Given the description of an element on the screen output the (x, y) to click on. 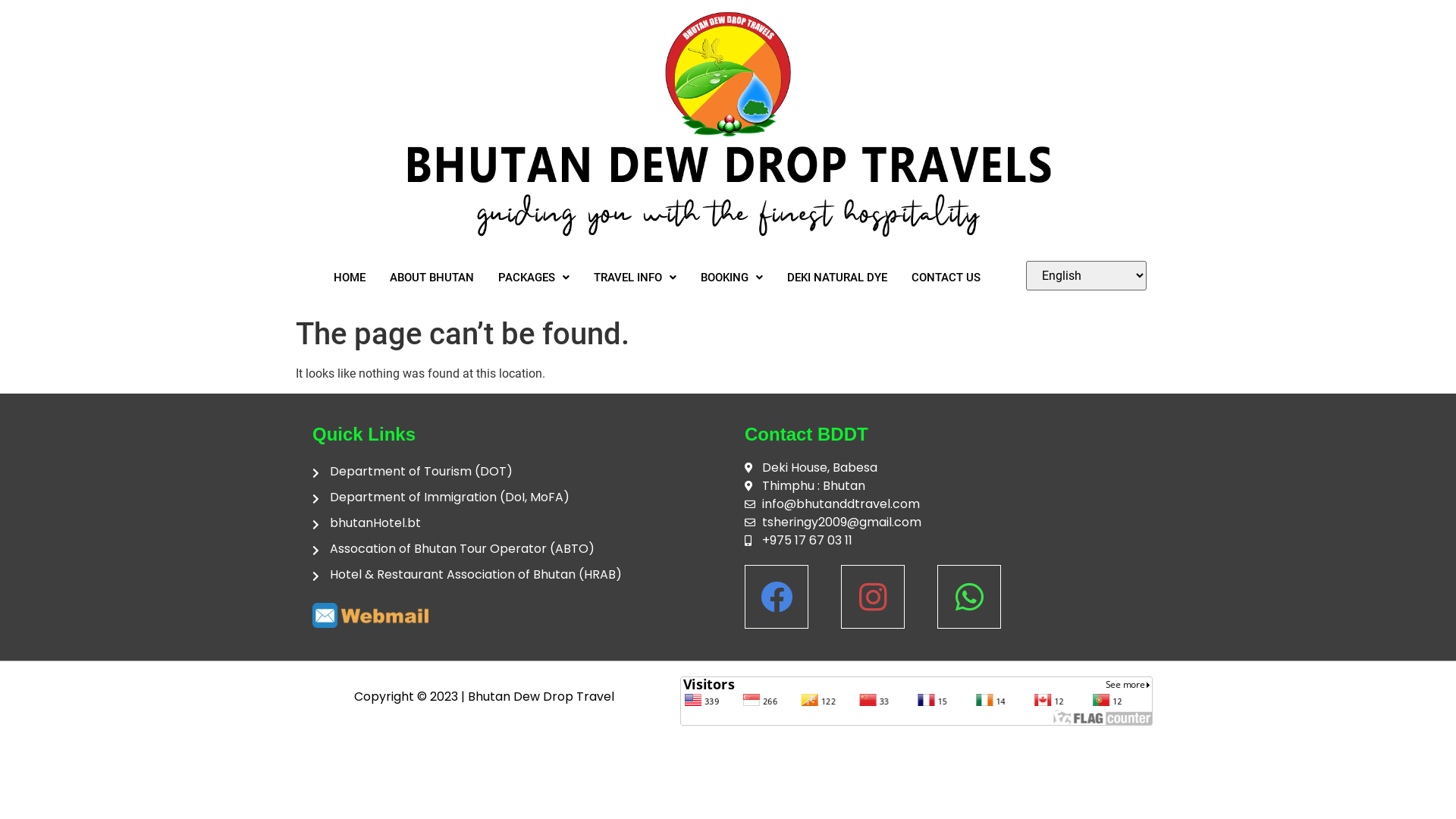
Department of Tourism (DOT) Element type: text (511, 471)
CONTACT US Element type: text (945, 277)
DEKI NATURAL DYE Element type: text (837, 277)
BOOKING Element type: text (731, 277)
Department of Immigration (DoI, MoFA) Element type: text (511, 497)
PACKAGES Element type: text (533, 277)
HOME Element type: text (349, 277)
TRAVEL INFO Element type: text (634, 277)
ABOUT BHUTAN Element type: text (431, 277)
bhutanHotel.bt Element type: text (511, 523)
